Given the description of an element on the screen output the (x, y) to click on. 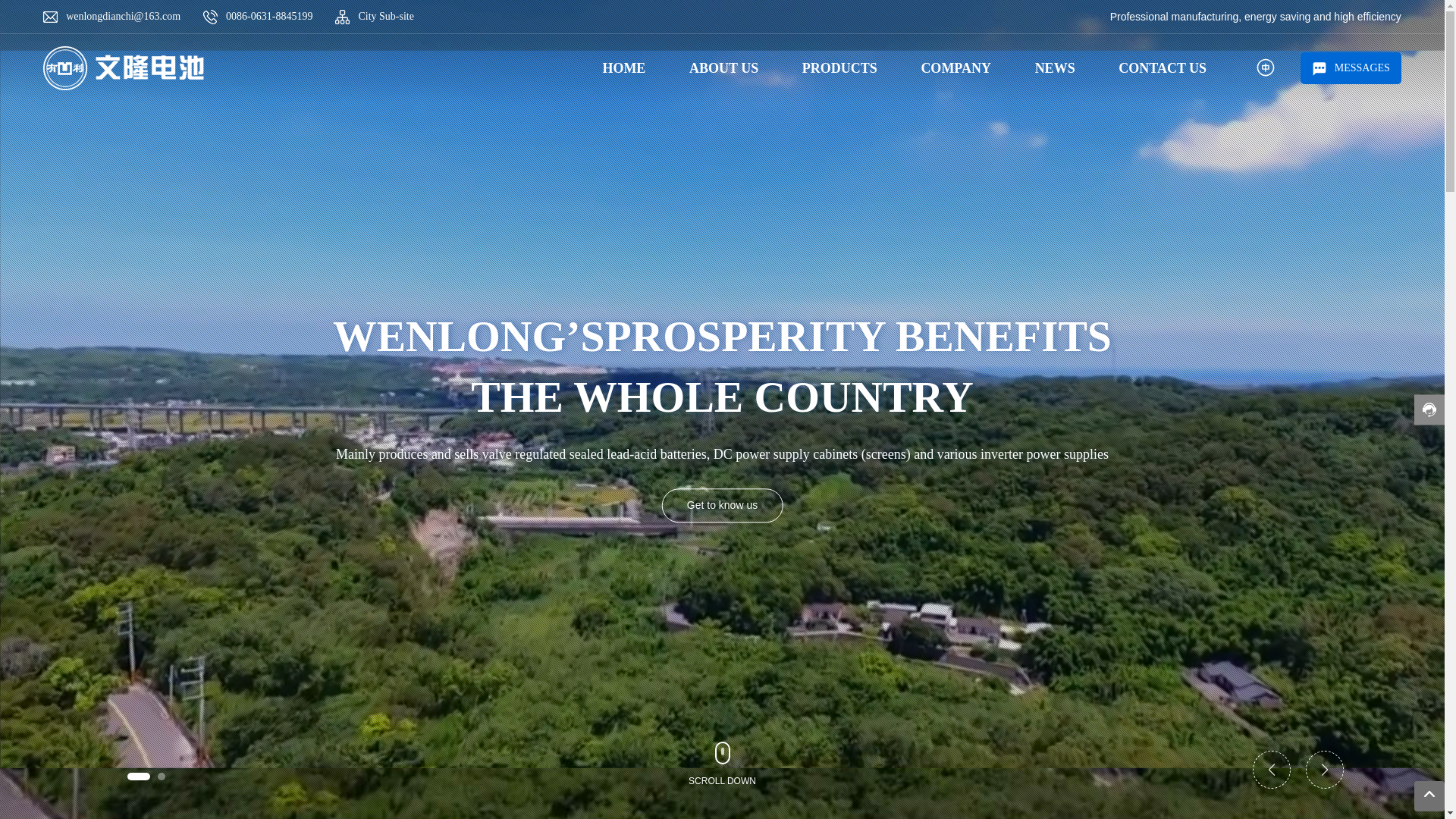
MESSAGES Element type: text (1350, 67)
0086-0631-8845199 Element type: text (268, 15)
NEWS Element type: text (1055, 68)
PRODUCTS Element type: text (839, 68)
wenlong Element type: hover (123, 68)
ABOUT US Element type: text (723, 68)
CONTACT US Element type: text (1161, 68)
City Sub-site Element type: text (385, 15)
COMPANY Element type: text (956, 68)
wenlongdianchi@163.com Element type: text (122, 15)
Get to know us Element type: text (721, 505)
HOME Element type: text (624, 68)
